Given the description of an element on the screen output the (x, y) to click on. 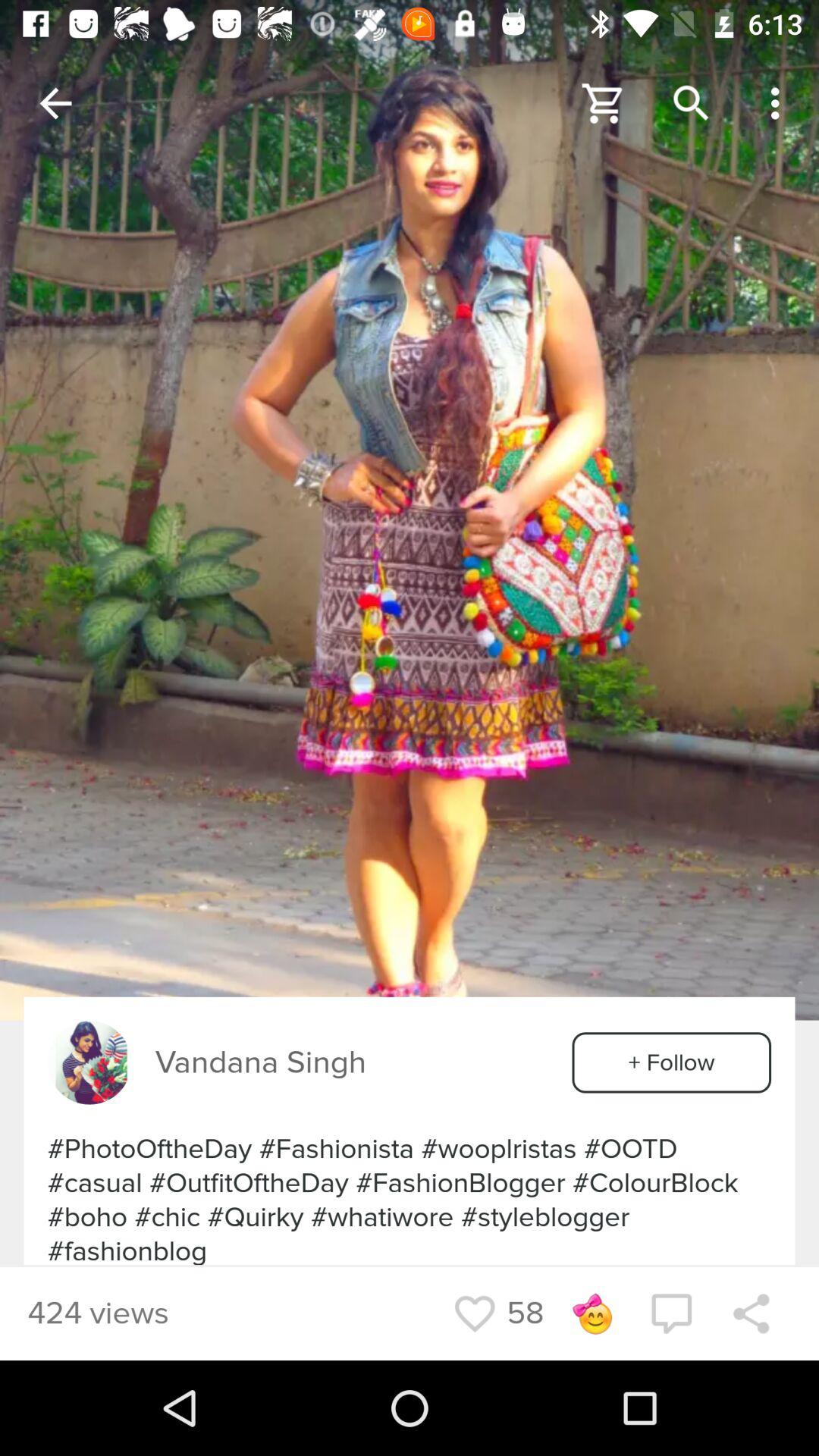
add to card (603, 103)
